Given the description of an element on the screen output the (x, y) to click on. 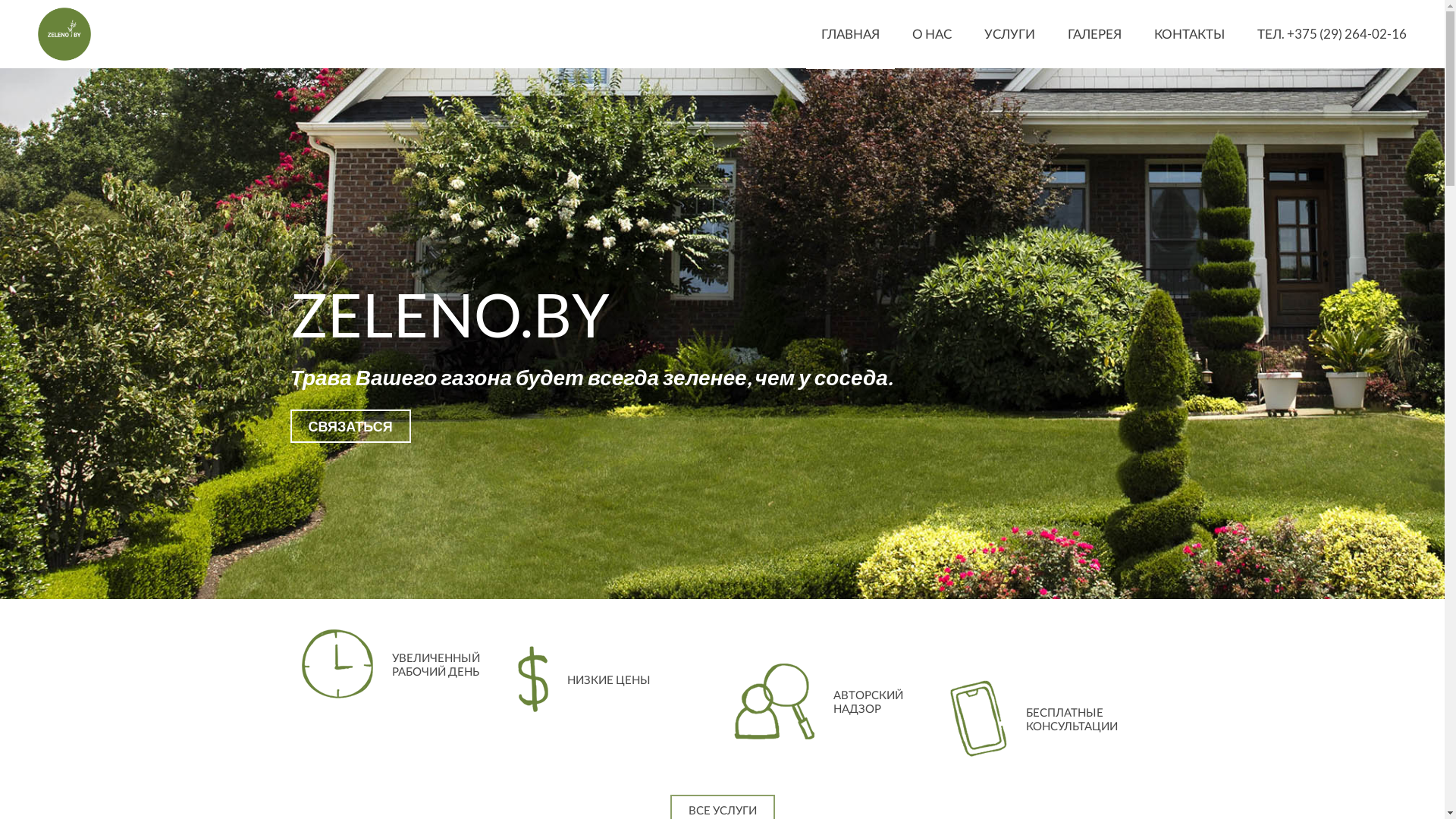
ZELENO.BY Element type: hover (64, 33)
